Given the description of an element on the screen output the (x, y) to click on. 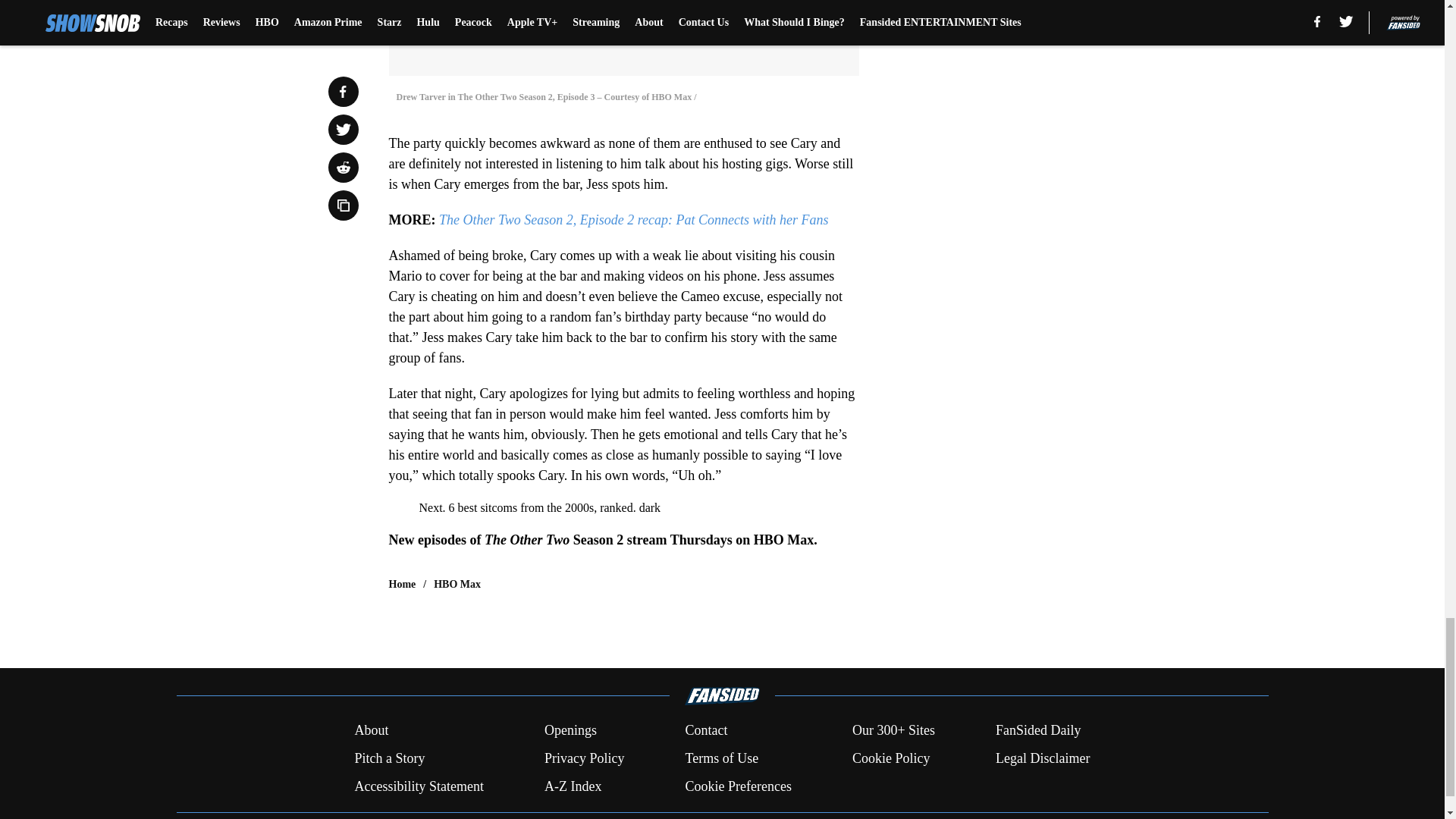
Terms of Use (721, 758)
Accessibility Statement (418, 786)
Pitch a Story (389, 758)
Openings (570, 730)
Legal Disclaimer (1042, 758)
FanSided Daily (1038, 730)
HBO Max (456, 584)
Cookie Policy (890, 758)
About (370, 730)
